Given the description of an element on the screen output the (x, y) to click on. 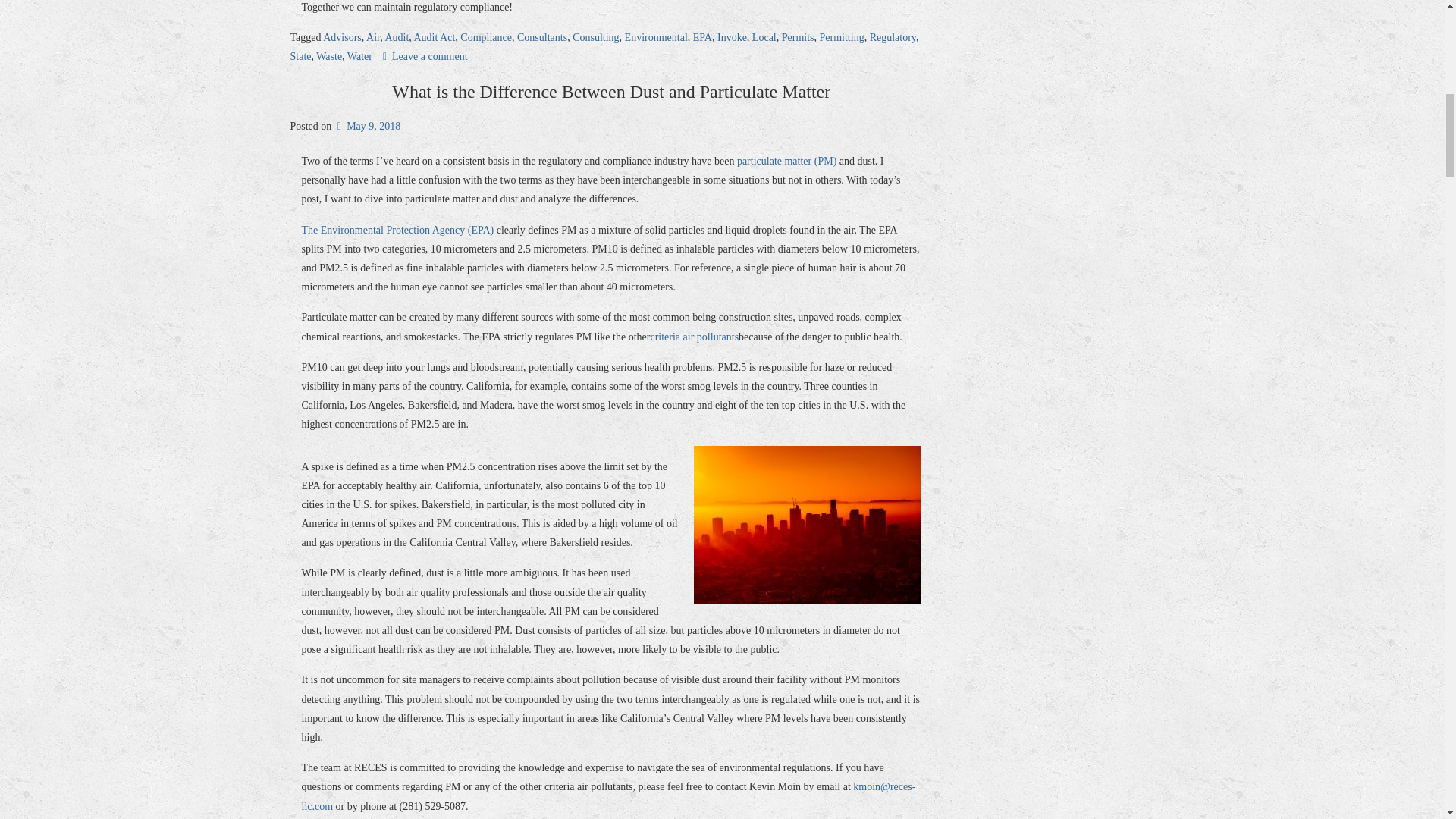
Leave a comment (424, 56)
May 9, 2018 (367, 125)
criteria air pollutants (693, 337)
Waste (328, 56)
EPA (702, 37)
Consultants (541, 37)
Invoke (731, 37)
Audit Act (434, 37)
What is the Difference Between Dust and Particulate Matter (610, 91)
Local (764, 37)
Environmental (655, 37)
Regulatory (892, 37)
Air (373, 37)
Consulting (595, 37)
Permits (797, 37)
